Given the description of an element on the screen output the (x, y) to click on. 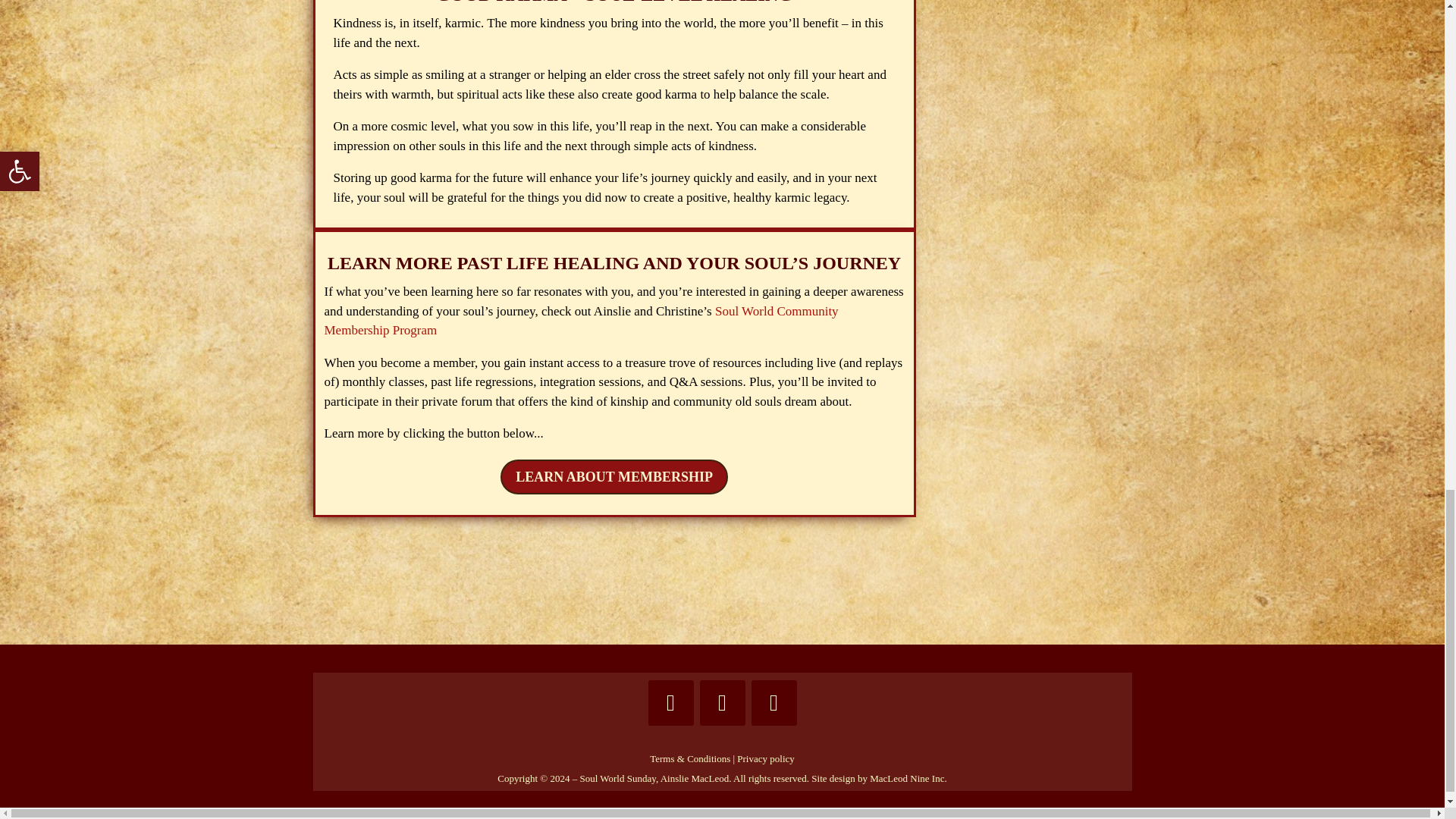
Soul World Community Membership Program (581, 320)
Follow on Instagram (721, 702)
Follow on Youtube (773, 702)
Follow on Facebook (670, 702)
LEARN ABOUT MEMBERSHIP (614, 476)
